Given the description of an element on the screen output the (x, y) to click on. 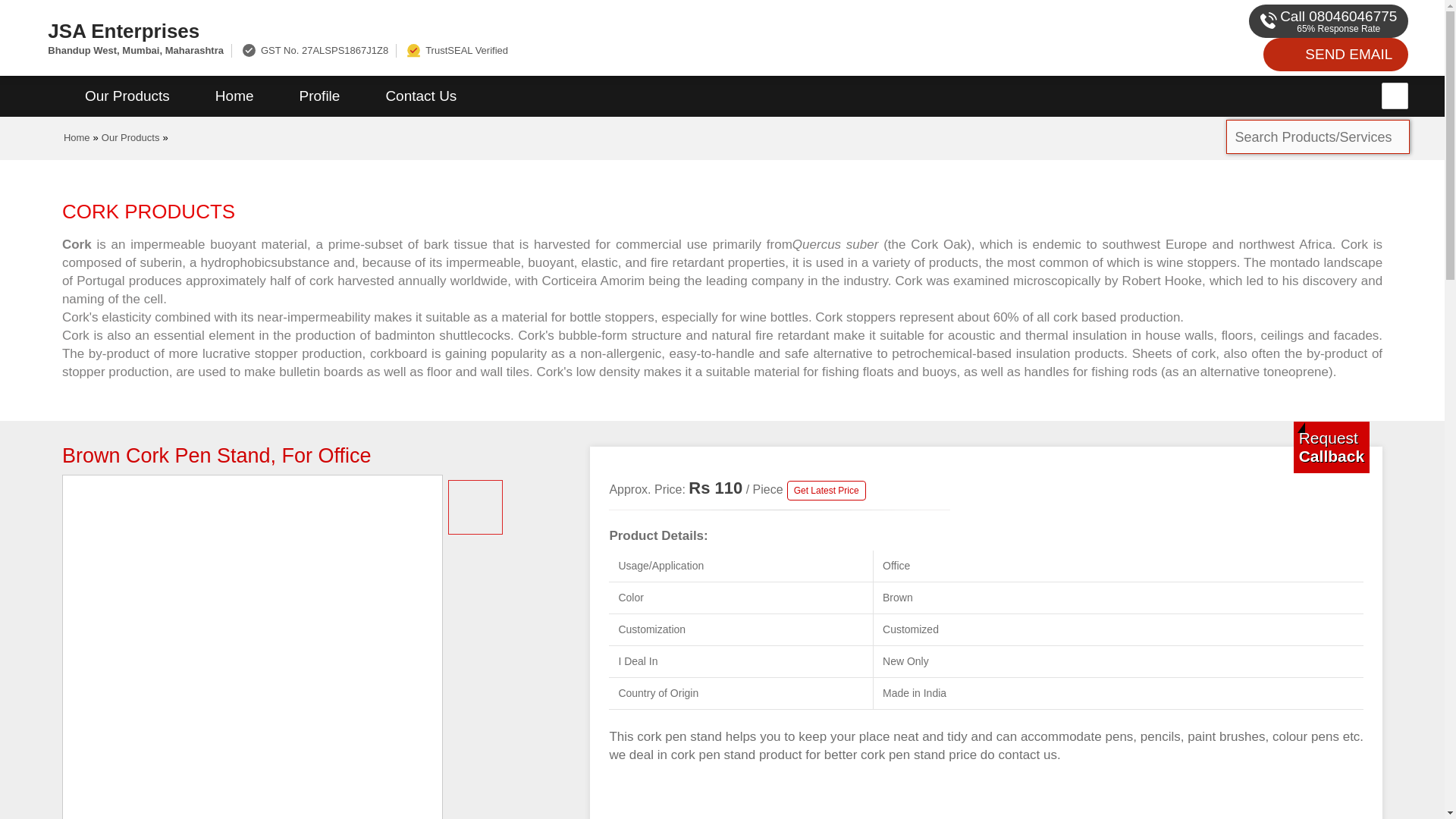
Contact Us (420, 96)
Our Products (130, 137)
JSA Enterprises (552, 31)
Our Products (127, 96)
Home (77, 137)
Home (234, 96)
Profile (319, 96)
Get a Call from us (1332, 447)
